Given the description of an element on the screen output the (x, y) to click on. 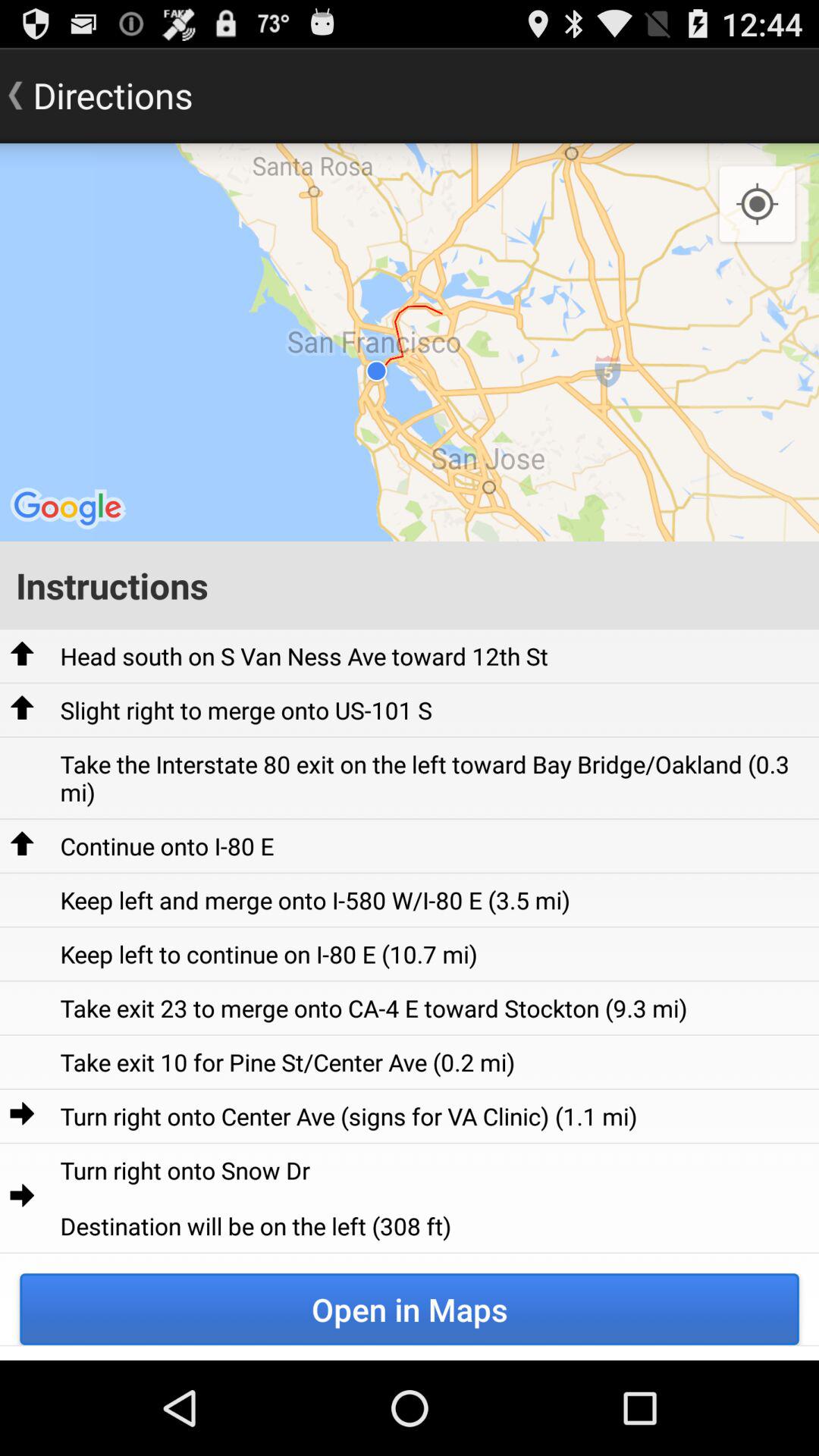
select icon at the top (409, 342)
